Given the description of an element on the screen output the (x, y) to click on. 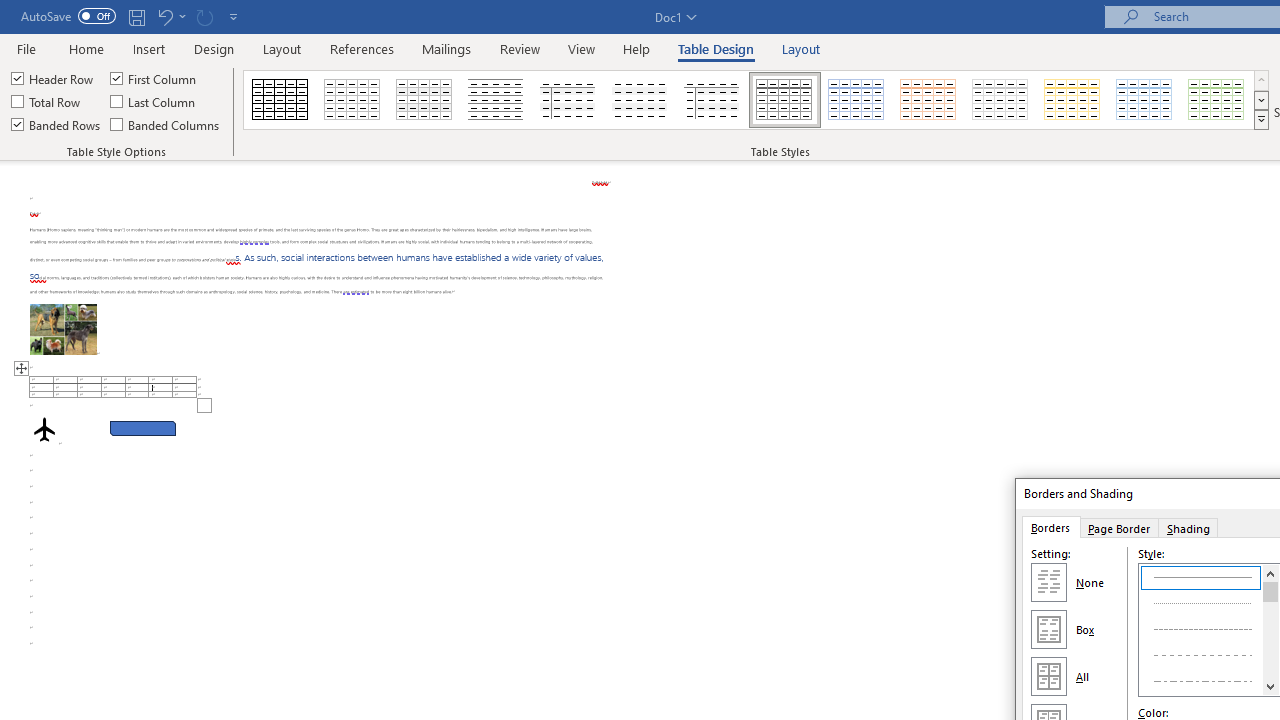
Plain Table 2 (496, 100)
Banded Rows (57, 124)
Box (1048, 628)
Last Column (154, 101)
Total Row (47, 101)
Table Grid Light (353, 100)
Grid Table 1 Light (784, 100)
Banded Columns (166, 124)
Row Down (1261, 100)
Grid Table 1 Light - Accent 6 (1217, 100)
Table Styles (1261, 120)
